Given the description of an element on the screen output the (x, y) to click on. 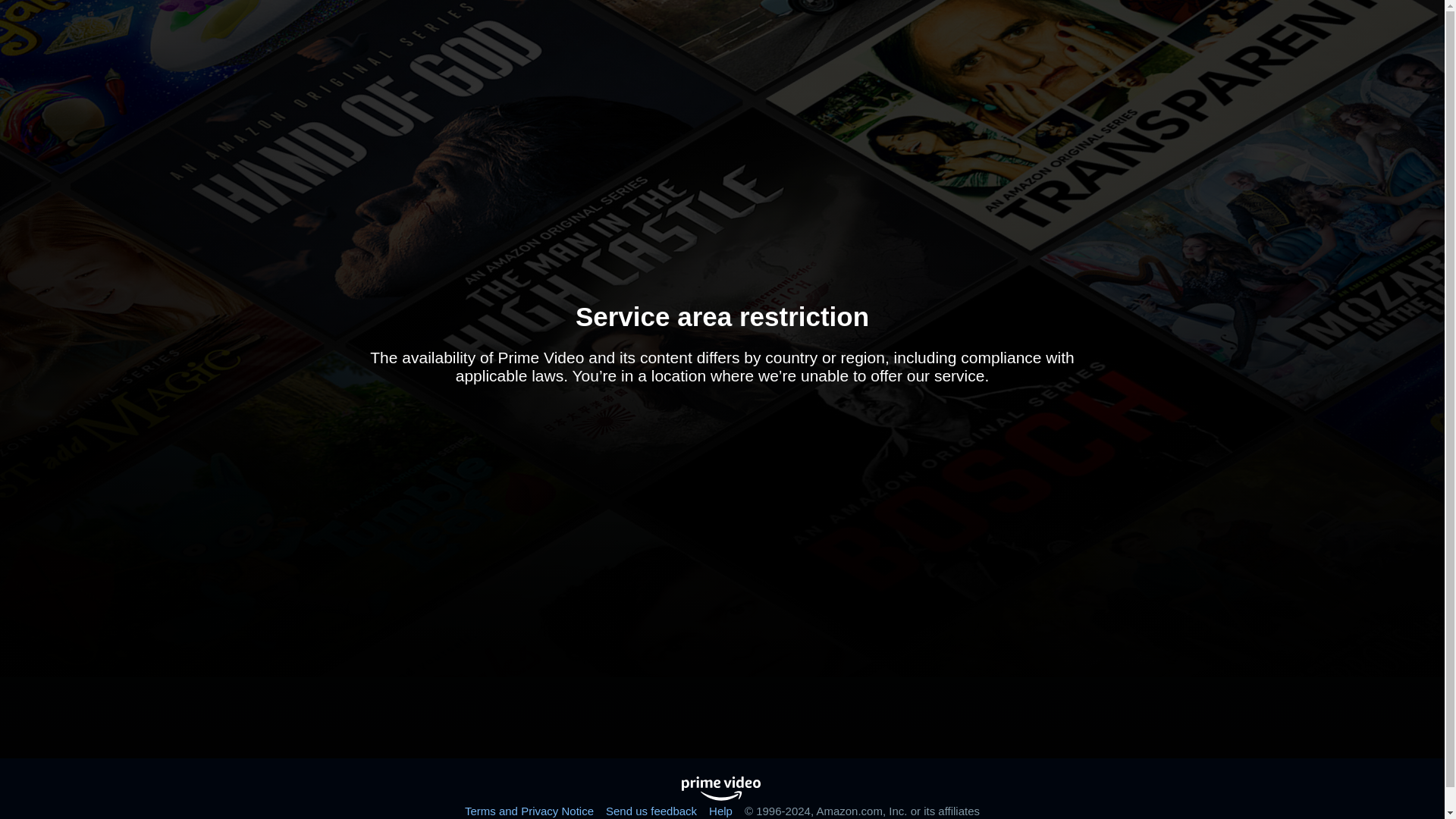
Terms and Privacy Notice (529, 810)
Send us feedback (651, 810)
Help (720, 810)
